Given the description of an element on the screen output the (x, y) to click on. 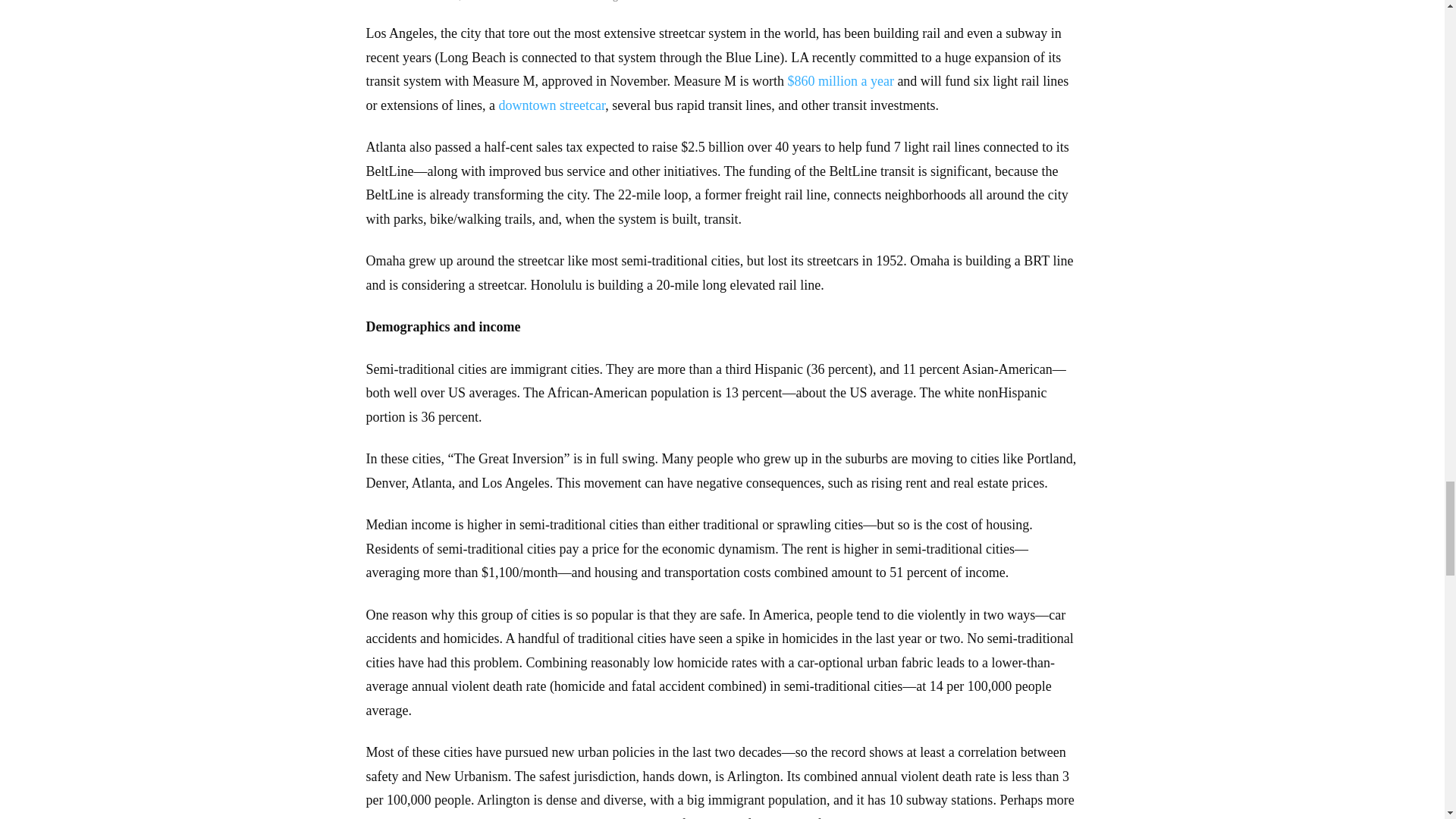
downtown streetcar (551, 105)
